Given the description of an element on the screen output the (x, y) to click on. 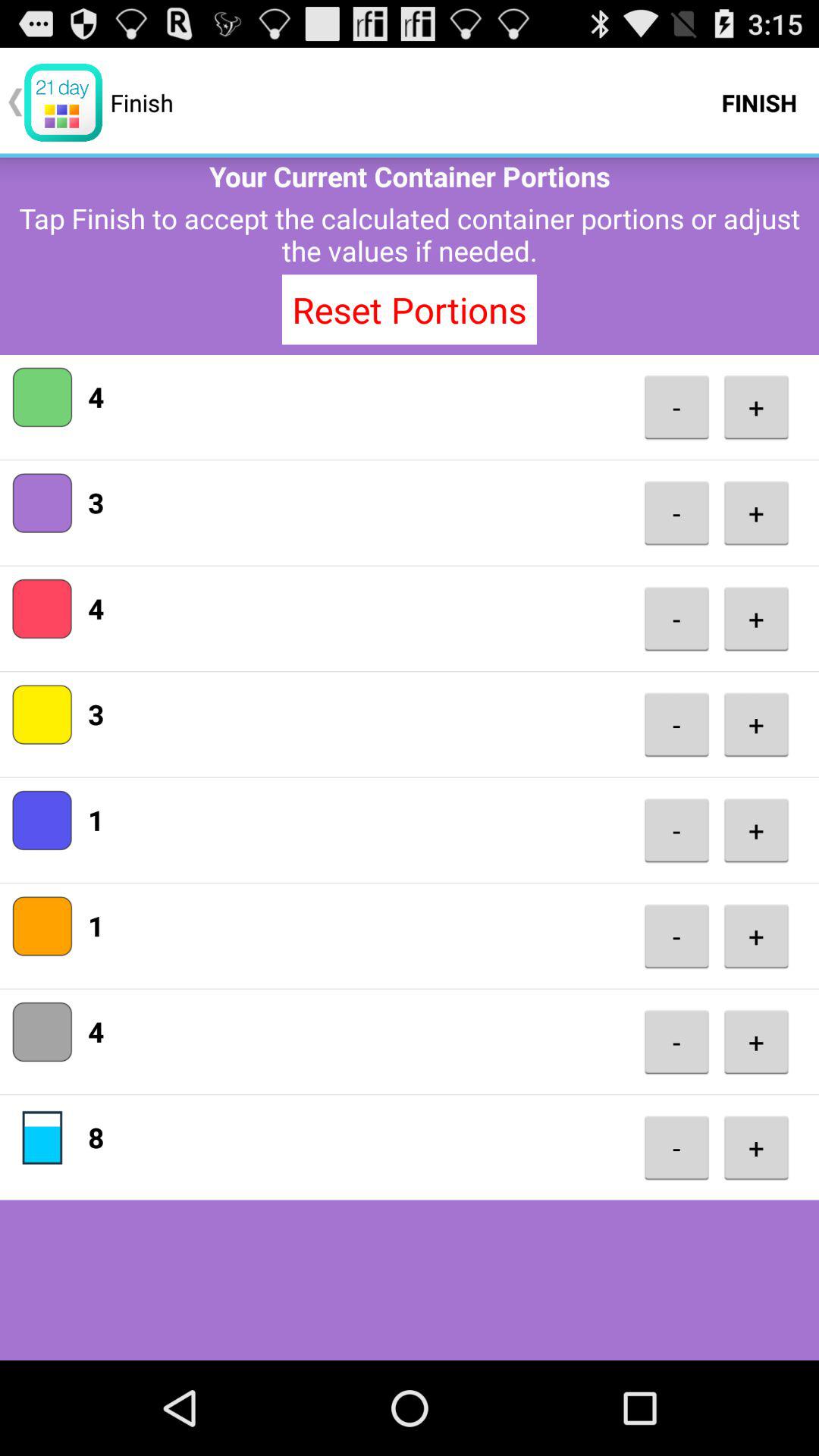
press item below the - (676, 1147)
